Given the description of an element on the screen output the (x, y) to click on. 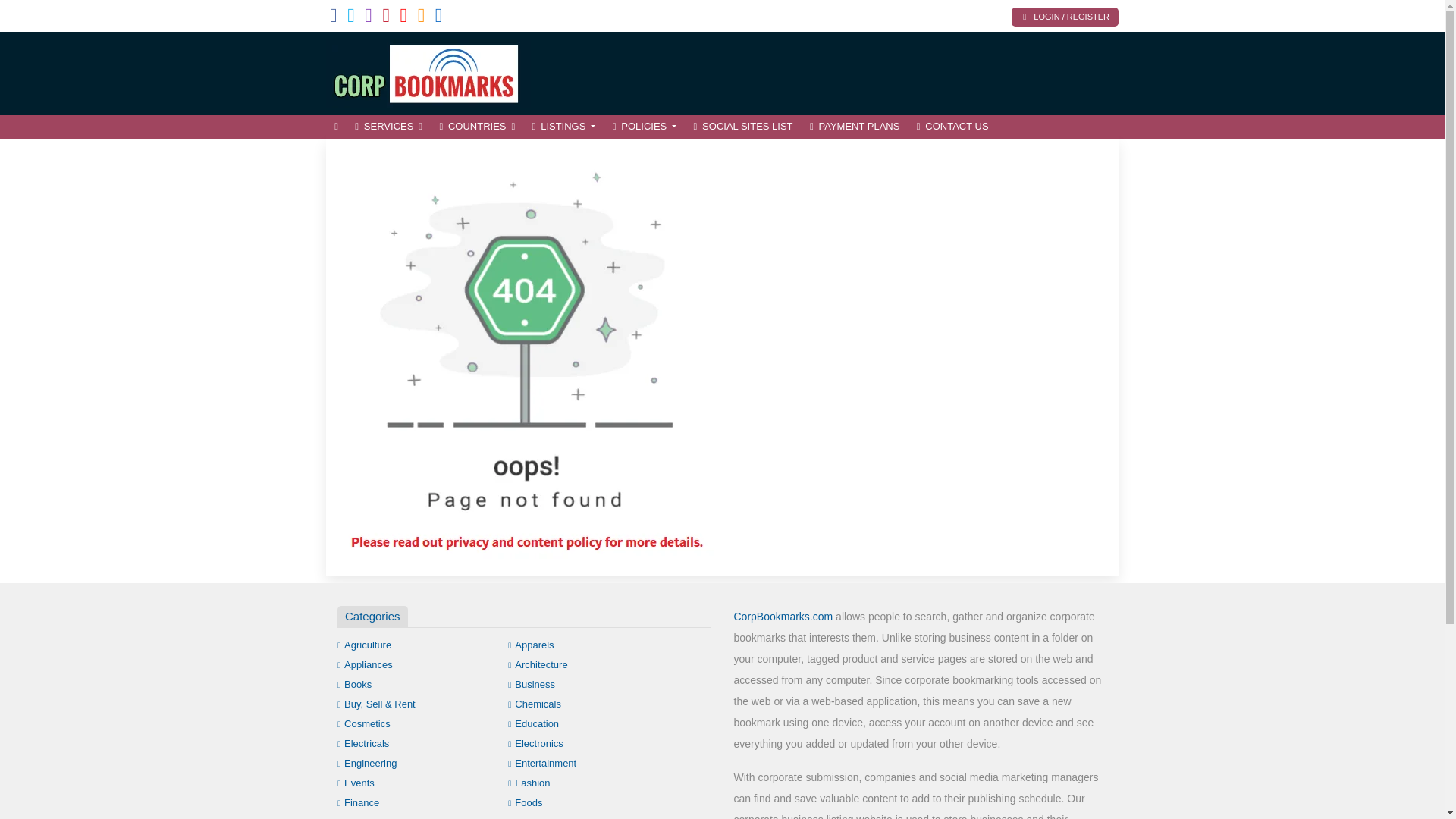
SERVICES (388, 126)
Corporate Service to Promote Online Business and Products (428, 71)
COUNTRIES (476, 126)
